Given the description of an element on the screen output the (x, y) to click on. 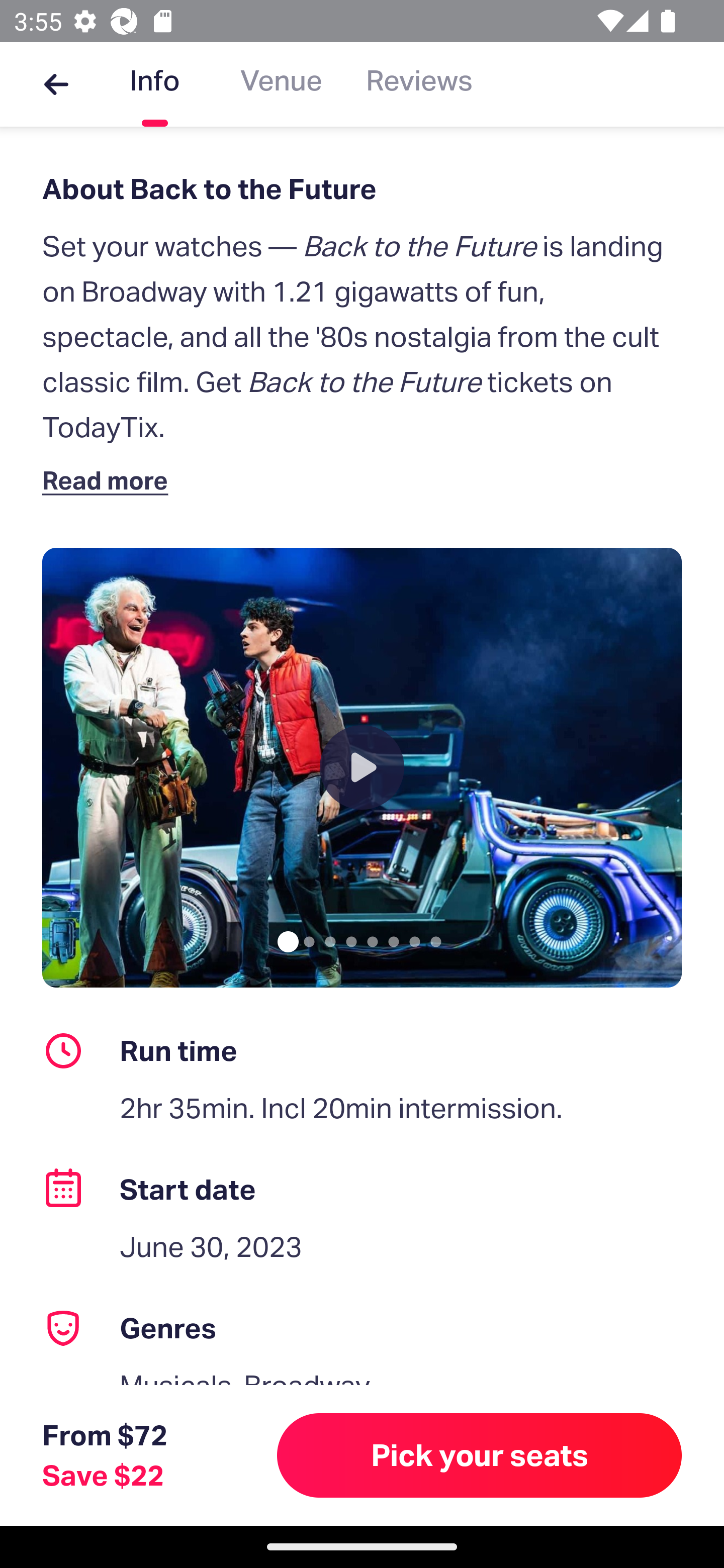
Venue (280, 84)
Reviews (419, 84)
About Back to the Future (361, 188)
Read more (109, 479)
Pick your seats (479, 1454)
